Given the description of an element on the screen output the (x, y) to click on. 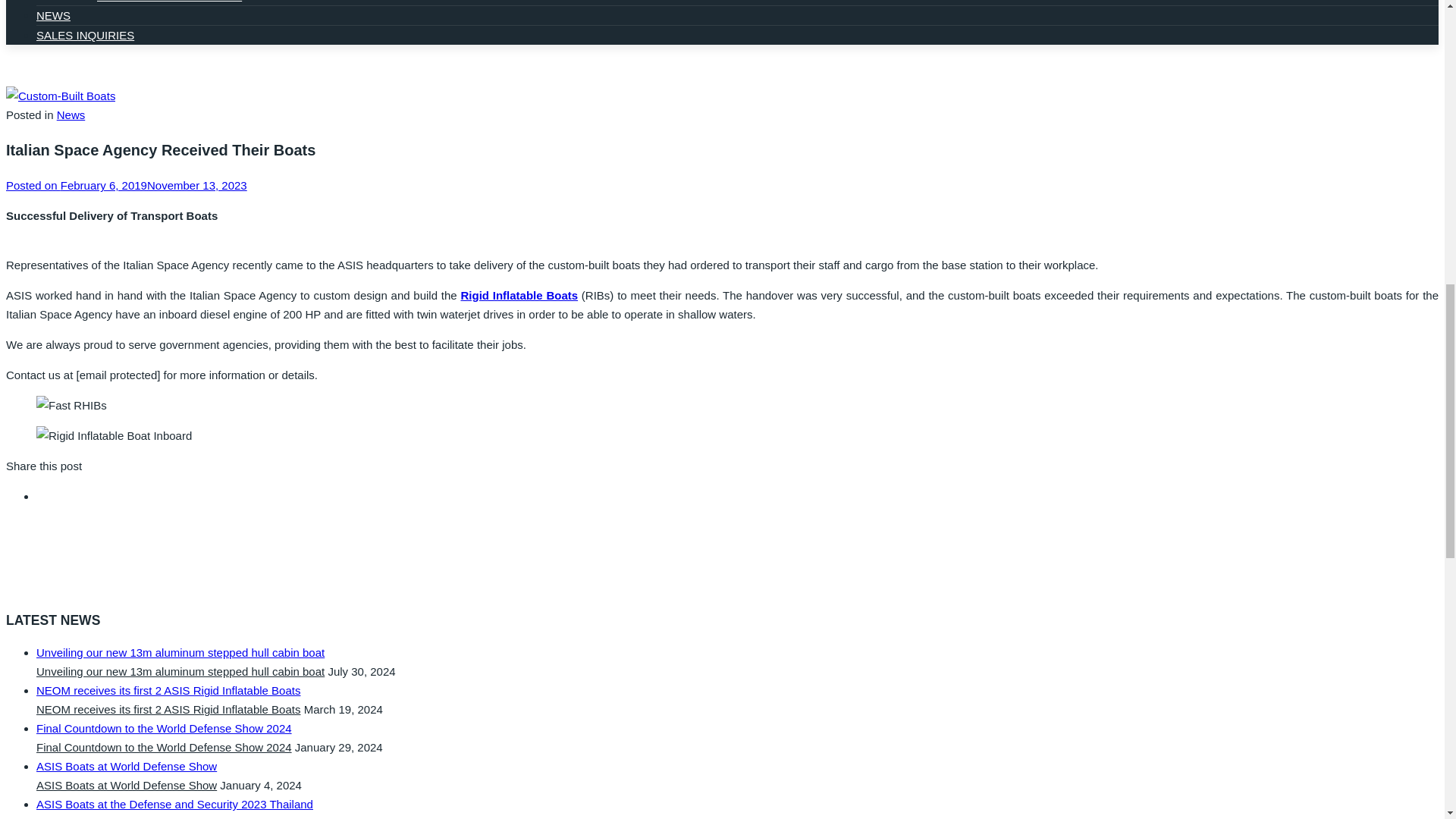
SALES INQUIRIES (84, 34)
FULLY INFLATABLE BOATS (169, 1)
NEWS (52, 15)
